Given the description of an element on the screen output the (x, y) to click on. 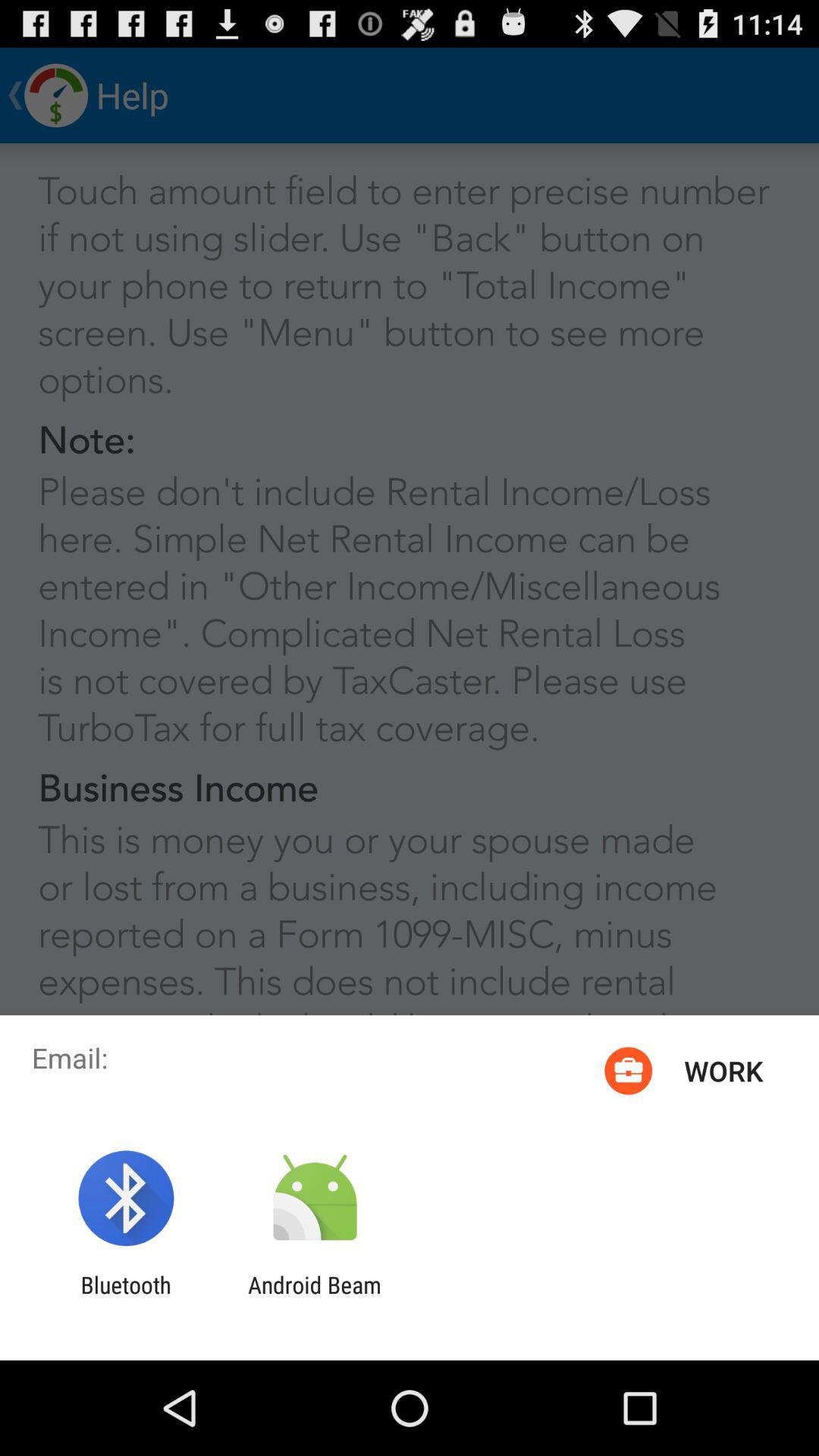
click item to the right of the bluetooth item (314, 1298)
